Given the description of an element on the screen output the (x, y) to click on. 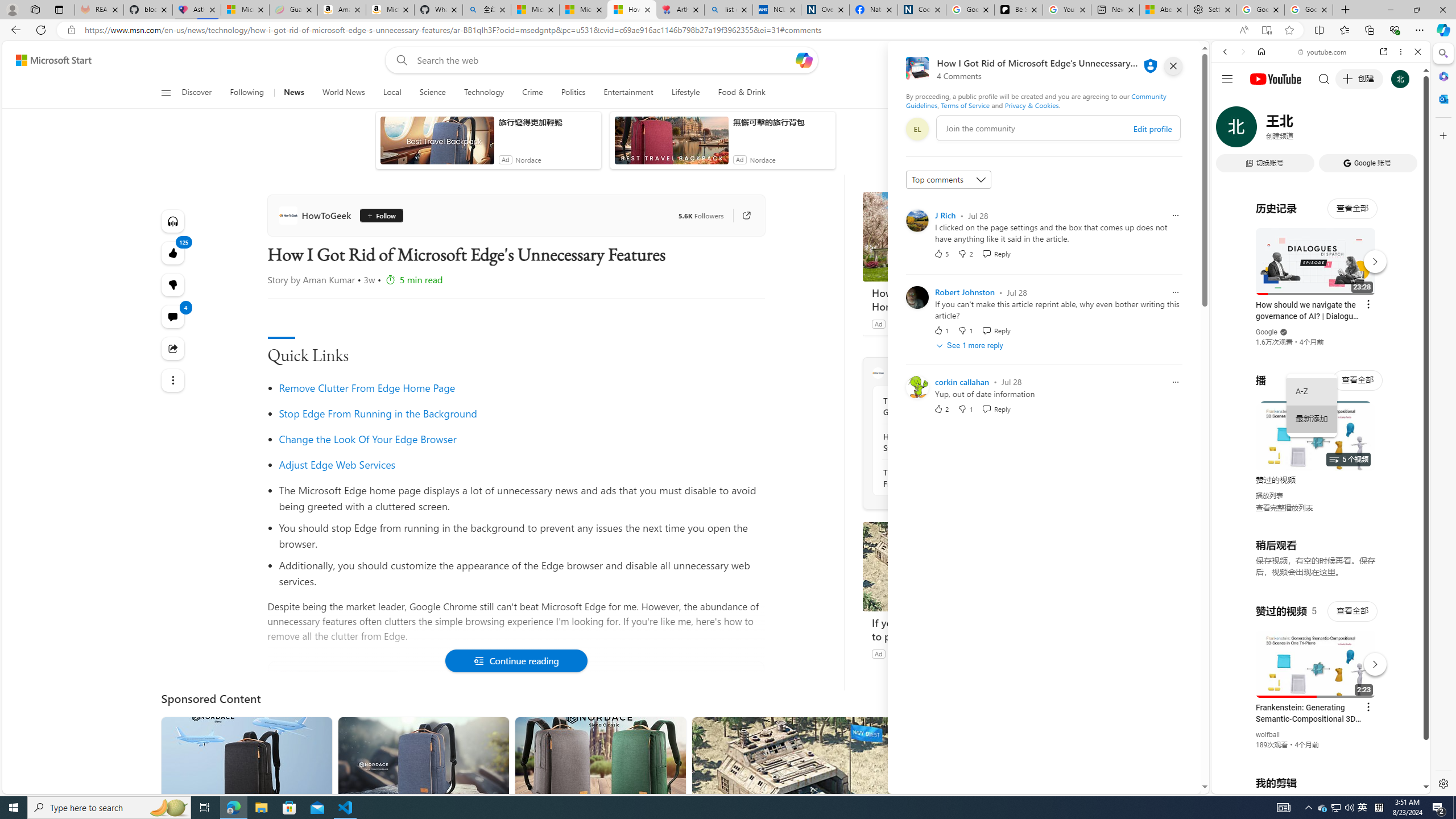
Preferences (1403, 129)
Report comment (1175, 381)
Food & Drink (741, 92)
LendingTree (907, 323)
2 Like (940, 408)
How to Check Your Wi-Fi Signal Strength (944, 441)
Search Filter, VIDEOS (1300, 129)
you (1315, 755)
How To Borrow From Your Home Without Touching Your Mortgage (947, 299)
